Given the description of an element on the screen output the (x, y) to click on. 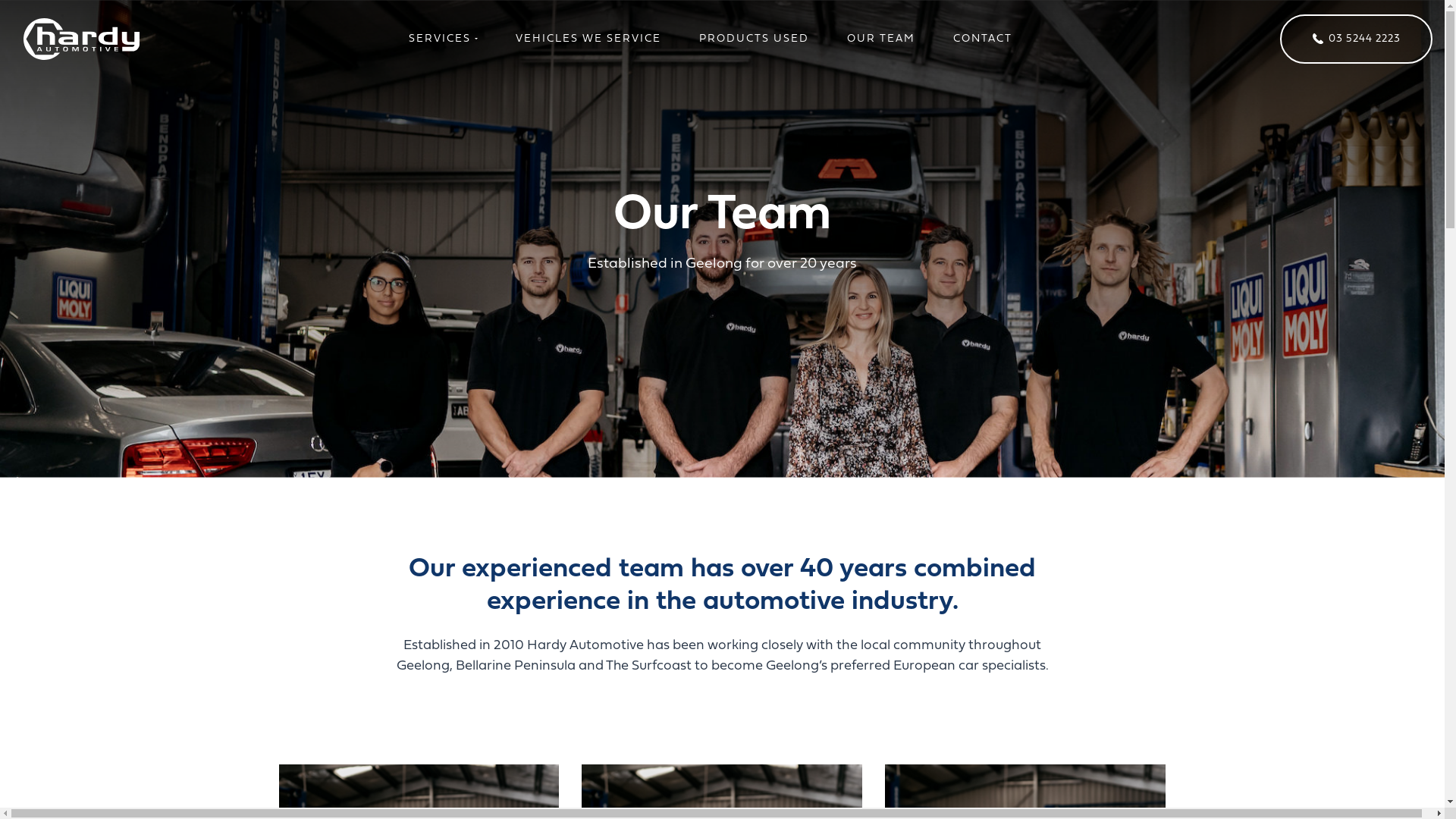
PRODUCTS USED Element type: text (754, 39)
OUR TEAM Element type: text (881, 39)
SERVICES Element type: text (442, 39)
03 5244 2223 Element type: text (1356, 38)
CONTACT Element type: text (982, 39)
VEHICLES WE SERVICE Element type: text (588, 39)
